Given the description of an element on the screen output the (x, y) to click on. 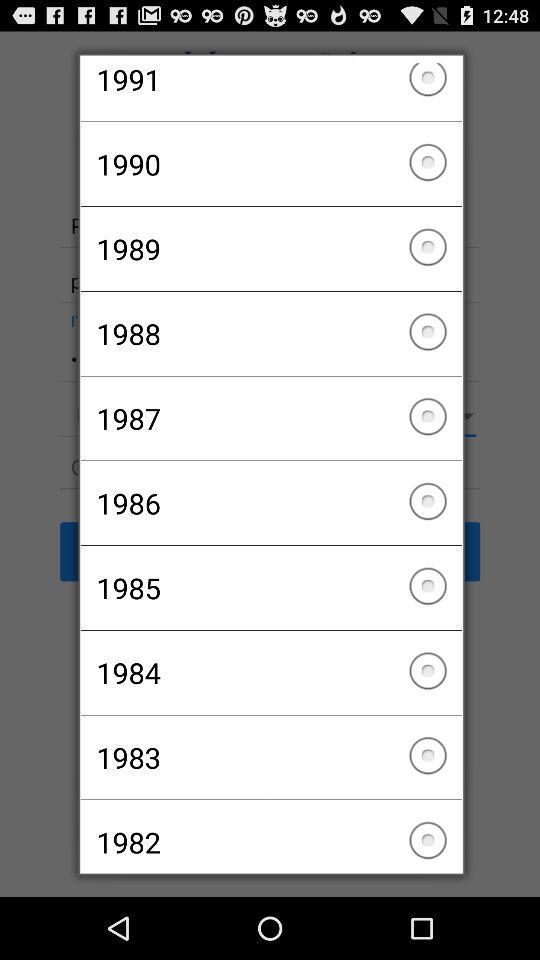
launch checkbox above the 1988 icon (270, 248)
